Given the description of an element on the screen output the (x, y) to click on. 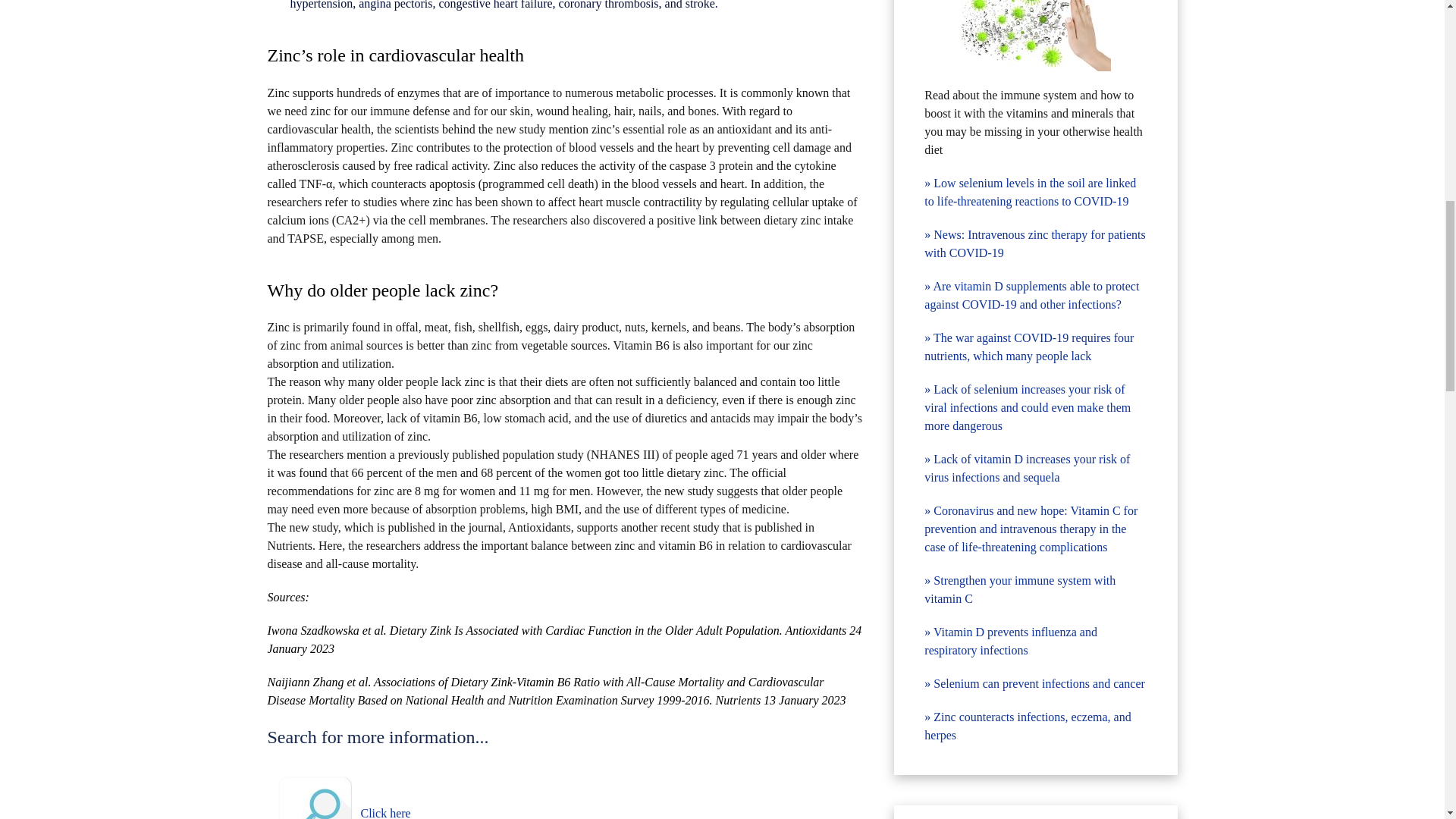
Search for more information... (315, 797)
BOOST YOUR IMMUNE DEFENSE (1034, 35)
